Given the description of an element on the screen output the (x, y) to click on. 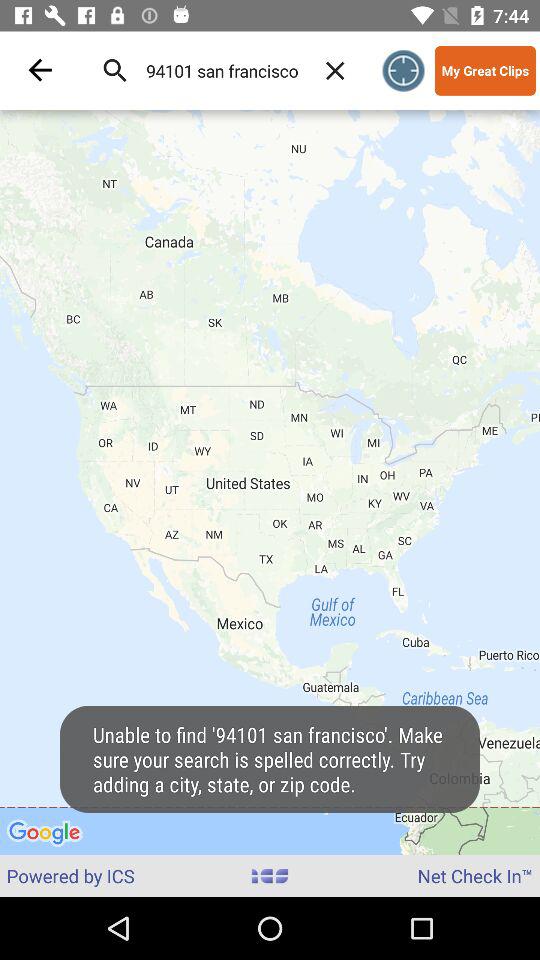
click the item at the center (270, 482)
